Given the description of an element on the screen output the (x, y) to click on. 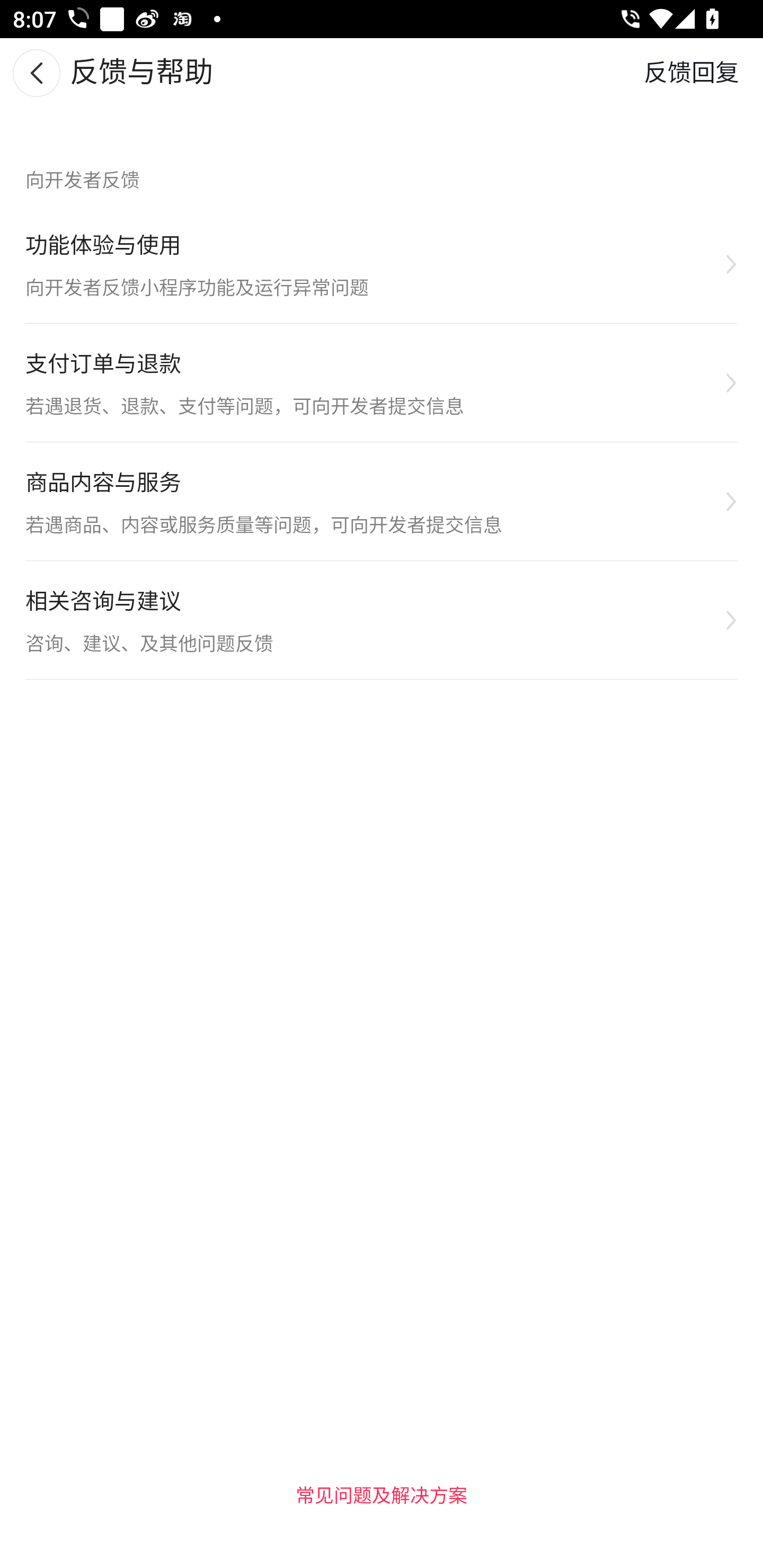
反馈回复 (690, 72)
功能体验与使用 向开发者反馈小程序功能及运行异常问题 (381, 264)
支付订单与退款 若遇退货、退款、支付等问题，可向开发者提交信息 (381, 383)
商品内容与服务 若遇商品、内容或服务质量等问题，可向开发者提交信息 (381, 501)
相关咨询与建议 咨询、建议、及其他问题反馈 (381, 619)
常见问题及解决方案 (381, 1494)
